Given the description of an element on the screen output the (x, y) to click on. 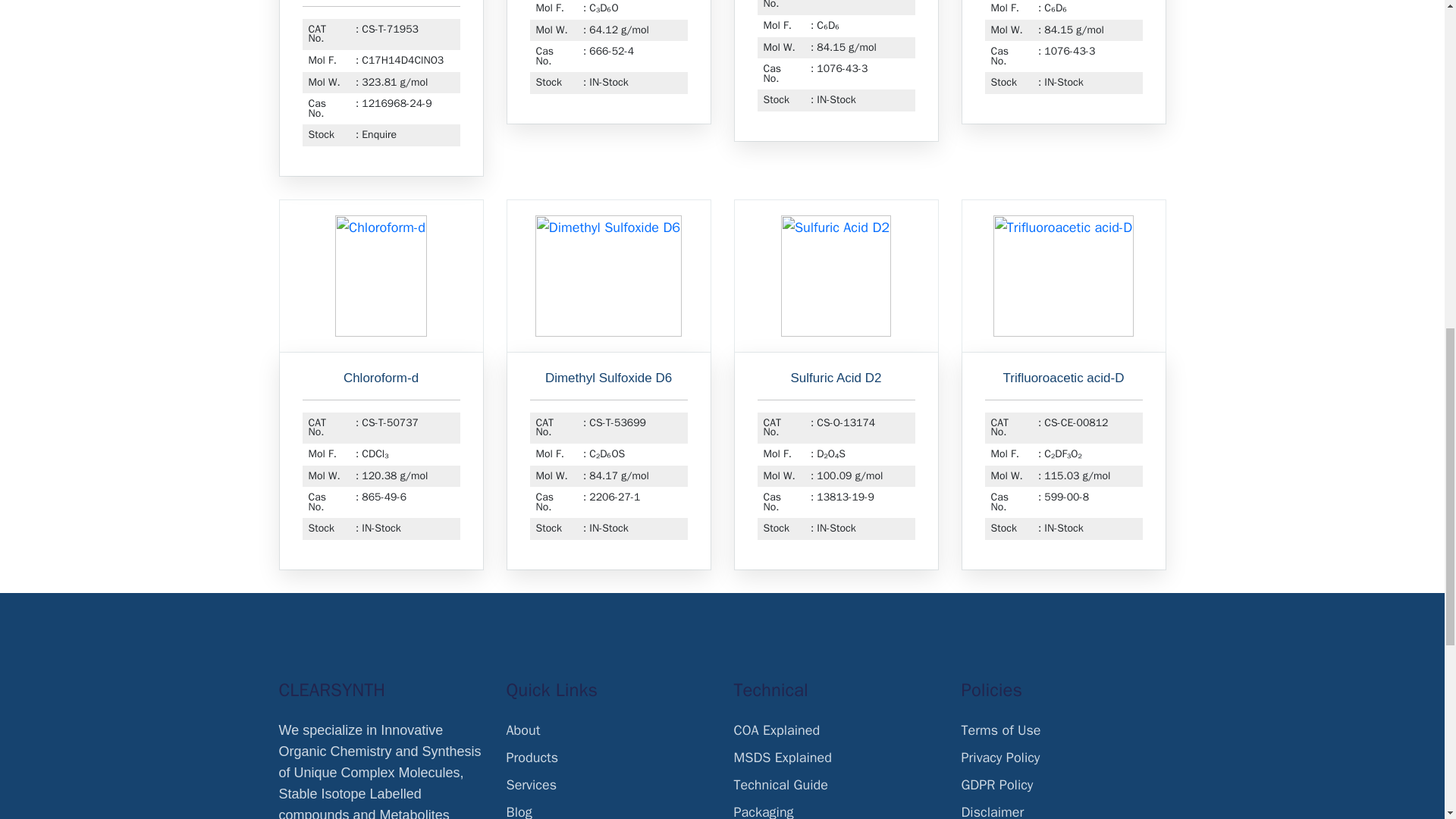
Dimethyl Sulfoxide D6 (608, 378)
Dimethyl Sulfoxide D6 (608, 275)
Chloroform-d (380, 378)
